Given the description of an element on the screen output the (x, y) to click on. 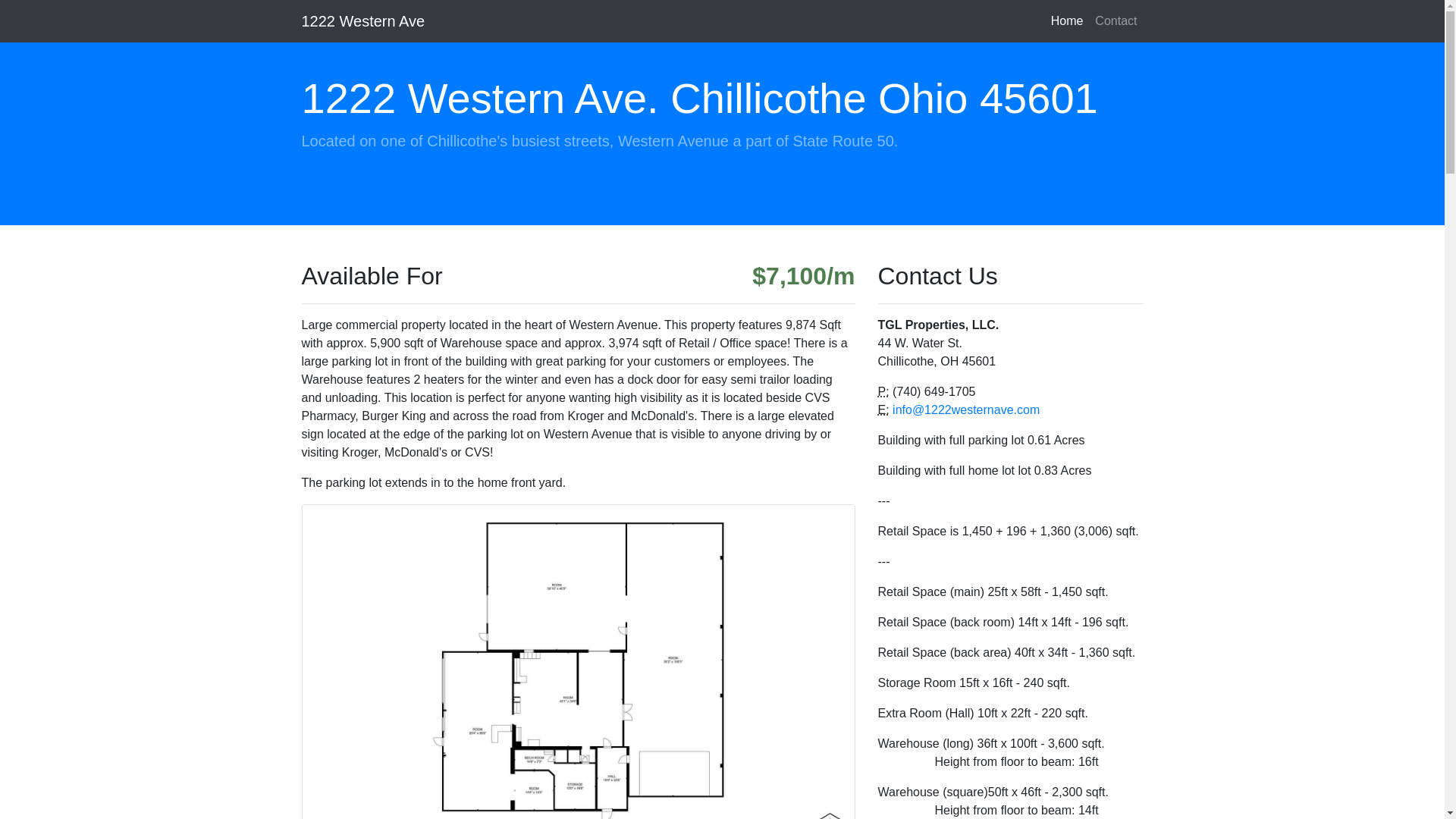
Contact Element type: text (1115, 21)
Home
(current) Element type: text (1066, 21)
info@1222westernave.com Element type: text (965, 409)
1222 Western Ave Element type: text (363, 21)
